Given the description of an element on the screen output the (x, y) to click on. 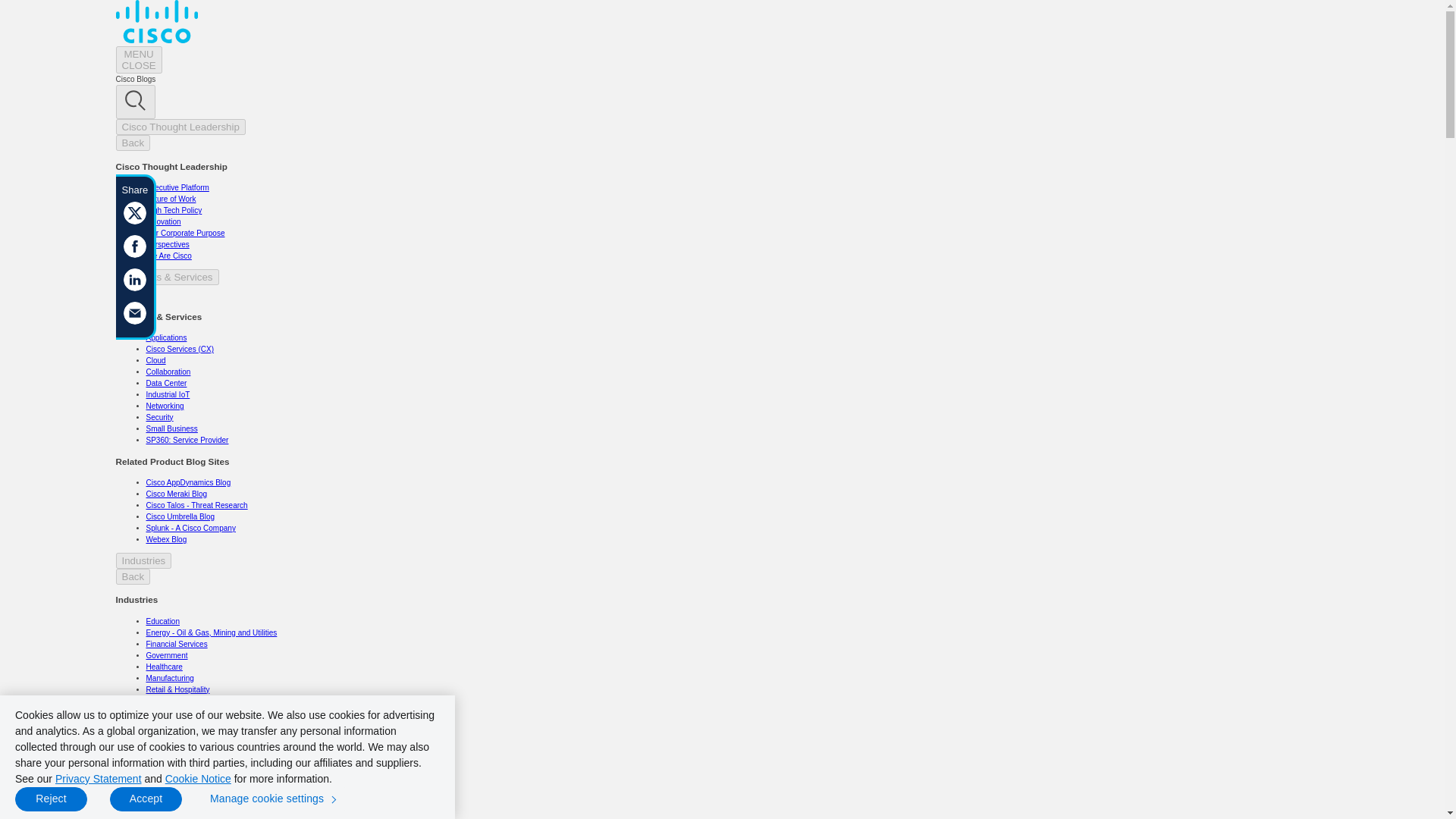
Manage cookie settings (275, 798)
Privacy Statement (98, 778)
Cookie Notice (198, 778)
Reject (50, 799)
